Given the description of an element on the screen output the (x, y) to click on. 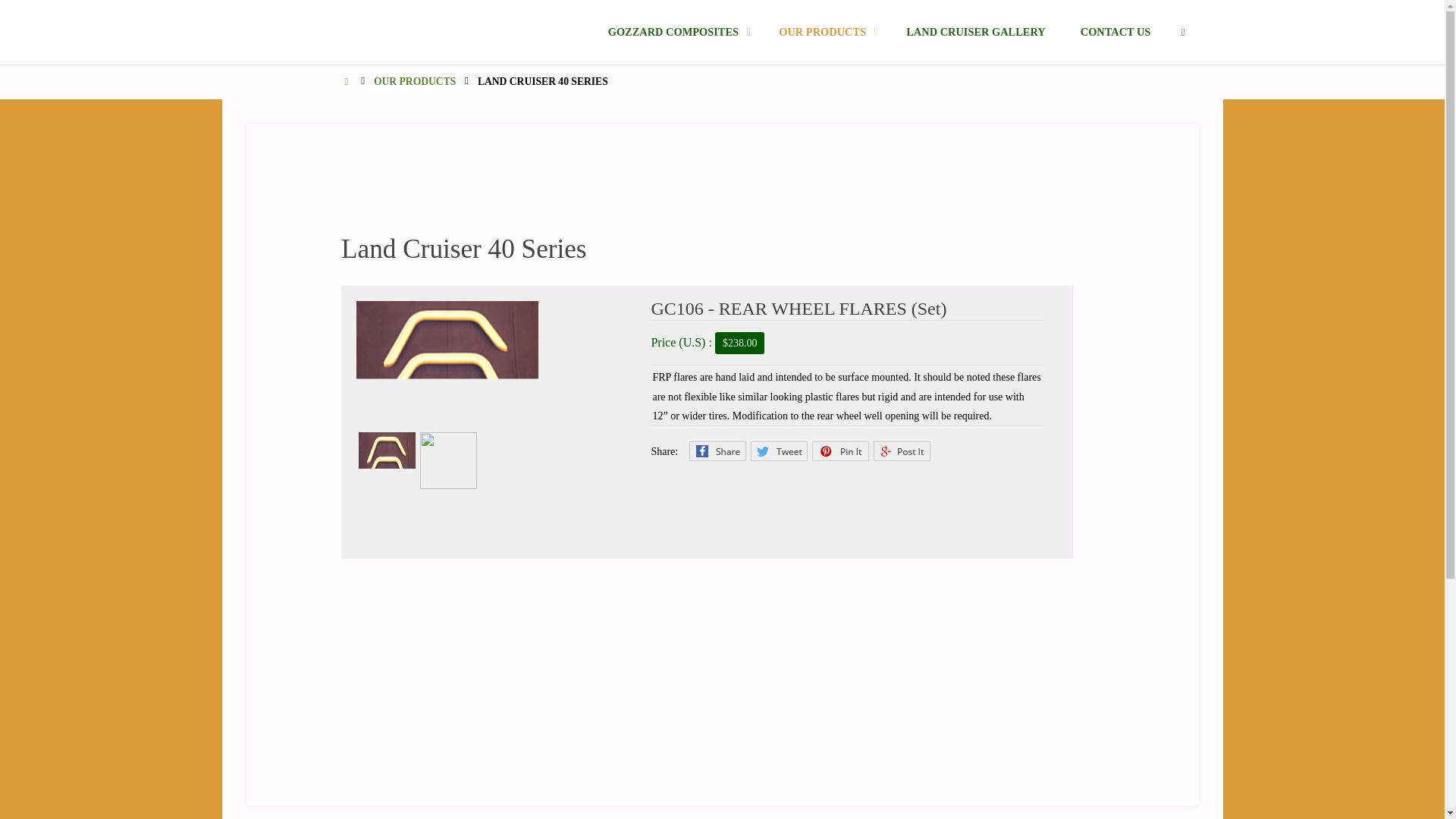
HOME (347, 81)
Pinterest (840, 451)
GOZZARD COMPOSITES (294, 27)
High-quality Fiberglass Replacement Parts for Land Cruisers (294, 27)
OUR PRODUCTS (824, 32)
Facebook (716, 451)
CONTACT US (1115, 32)
Twitter (779, 451)
OUR PRODUCTS (414, 81)
LAND CRUISER GALLERY (975, 32)
